Given the description of an element on the screen output the (x, y) to click on. 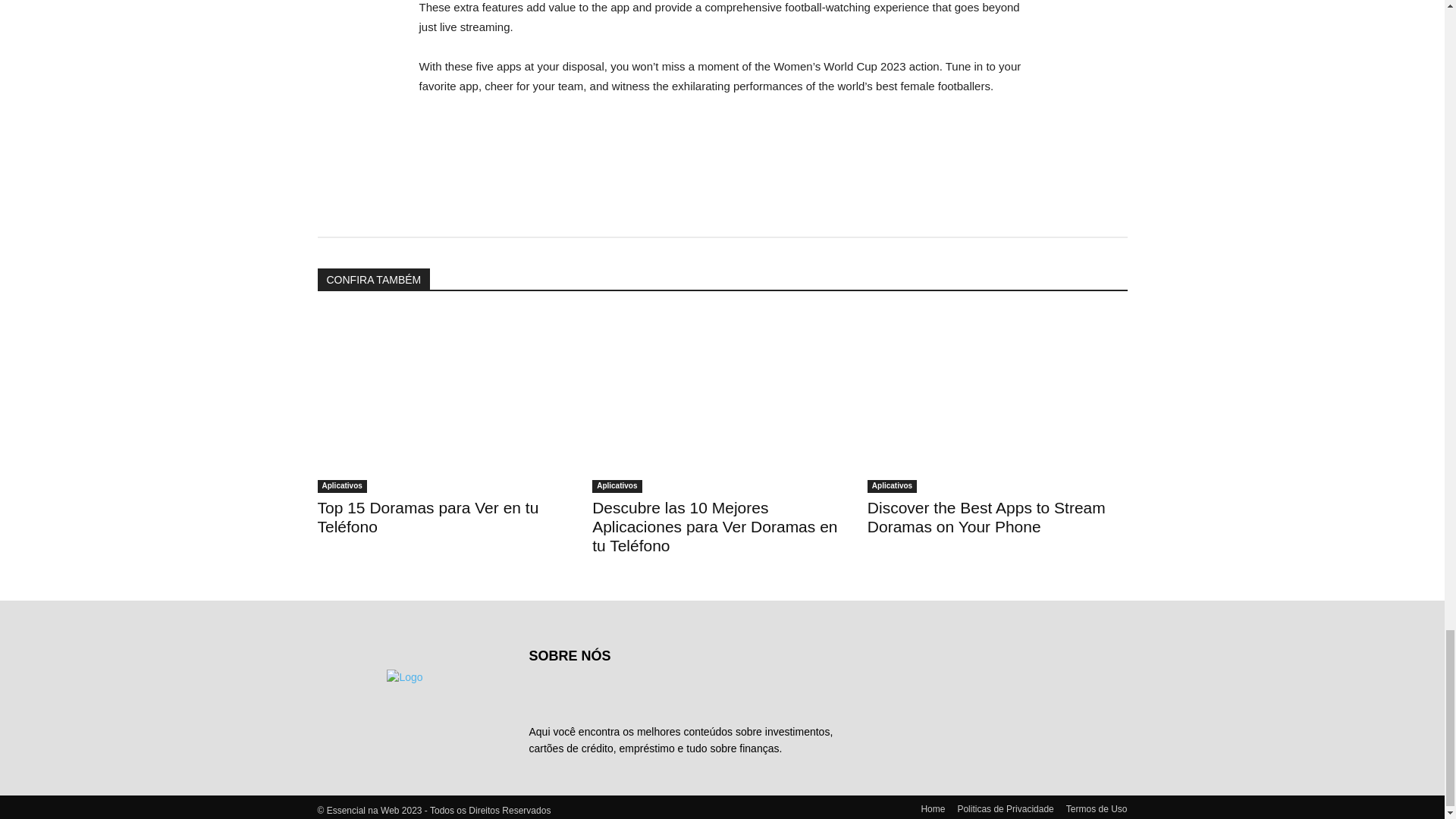
Aplicativos (341, 486)
